Given the description of an element on the screen output the (x, y) to click on. 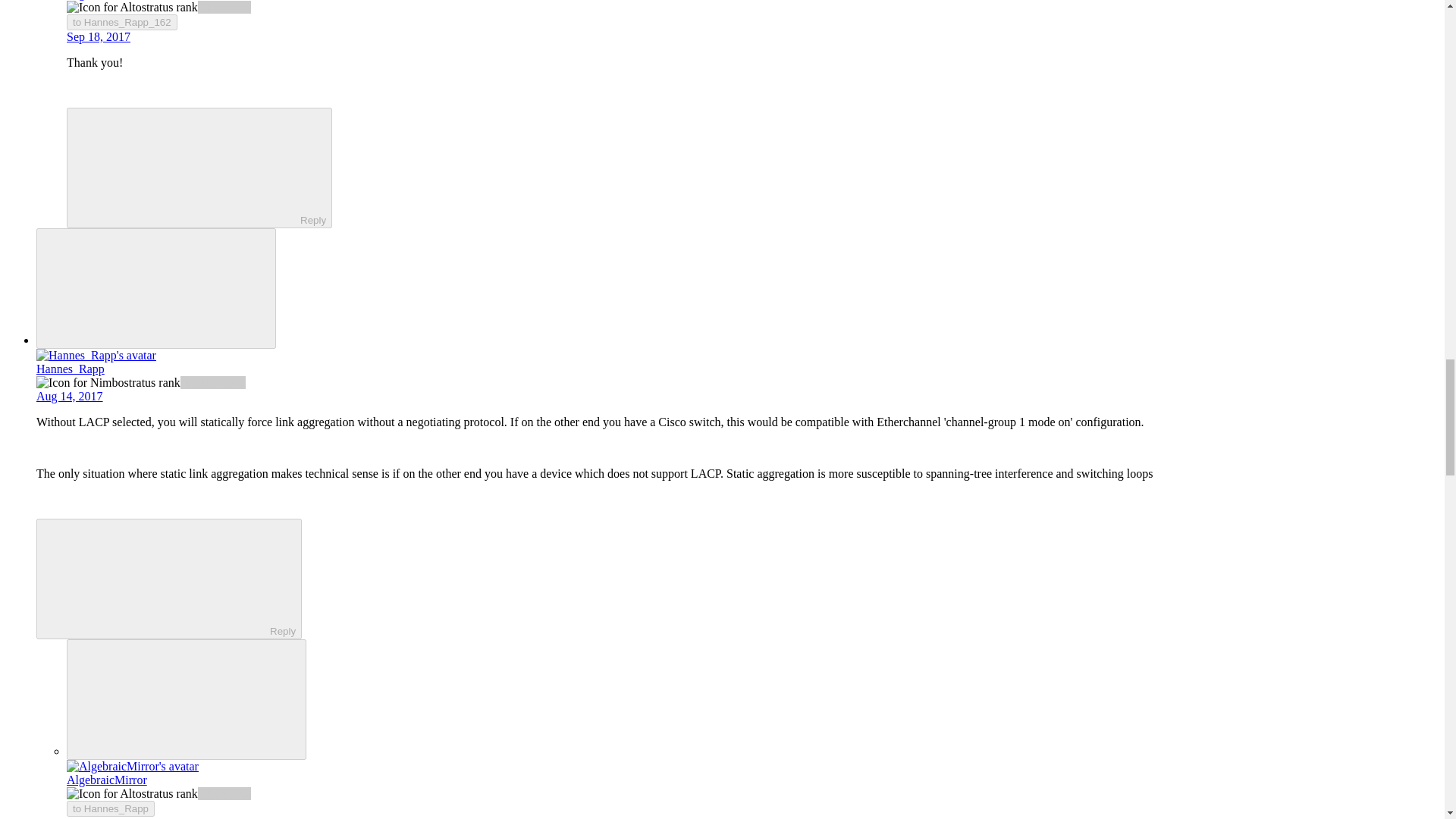
September 18, 2017 at 9:25 PM (98, 817)
Reply (155, 577)
Reply (185, 166)
Sep 18, 2017 (98, 36)
August 14, 2017 at 6:32 PM (69, 395)
September 18, 2017 at 9:25 PM (98, 36)
